Given the description of an element on the screen output the (x, y) to click on. 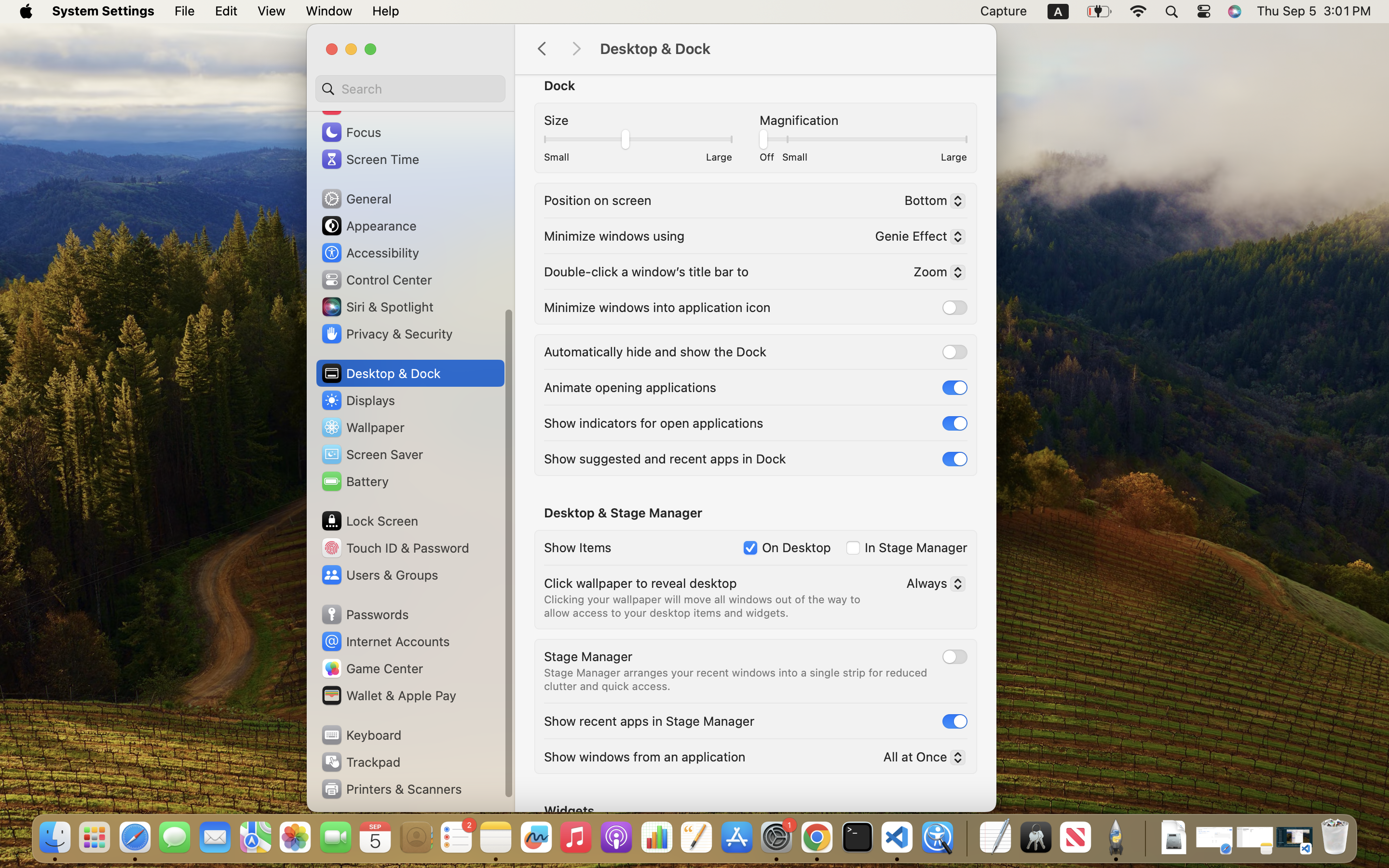
Displays Element type: AXStaticText (357, 399)
Keyboard Element type: AXStaticText (360, 734)
Always Element type: AXPopUpButton (931, 584)
0.4285714328289032 Element type: AXSlider (638, 136)
Touch ID & Password Element type: AXStaticText (394, 547)
